Given the description of an element on the screen output the (x, y) to click on. 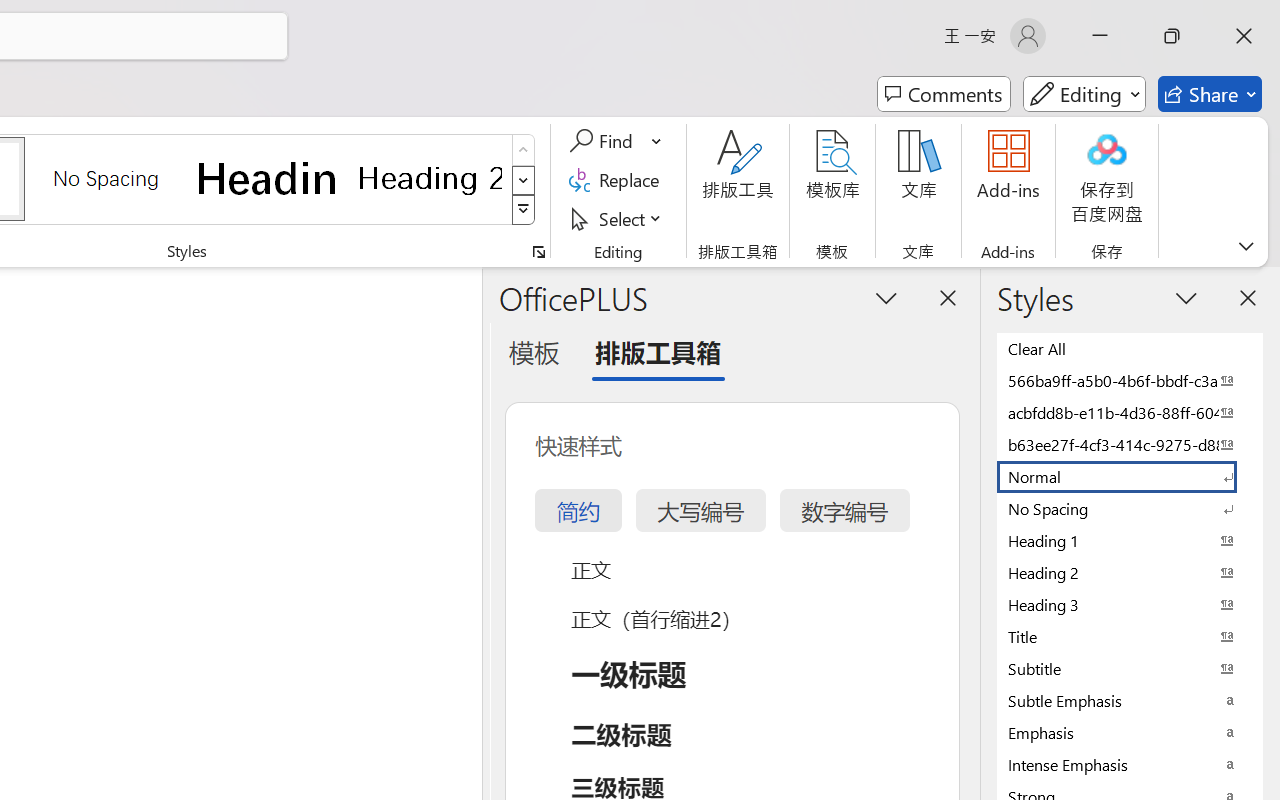
Normal (1130, 476)
Comments (943, 94)
Styles... (538, 252)
Task Pane Options (886, 297)
Mode (1083, 94)
566ba9ff-a5b0-4b6f-bbdf-c3ab41993fc2 (1130, 380)
Heading 3 (1130, 604)
Select (618, 218)
Subtitle (1130, 668)
Intense Emphasis (1130, 764)
Ribbon Display Options (1246, 245)
